Given the description of an element on the screen output the (x, y) to click on. 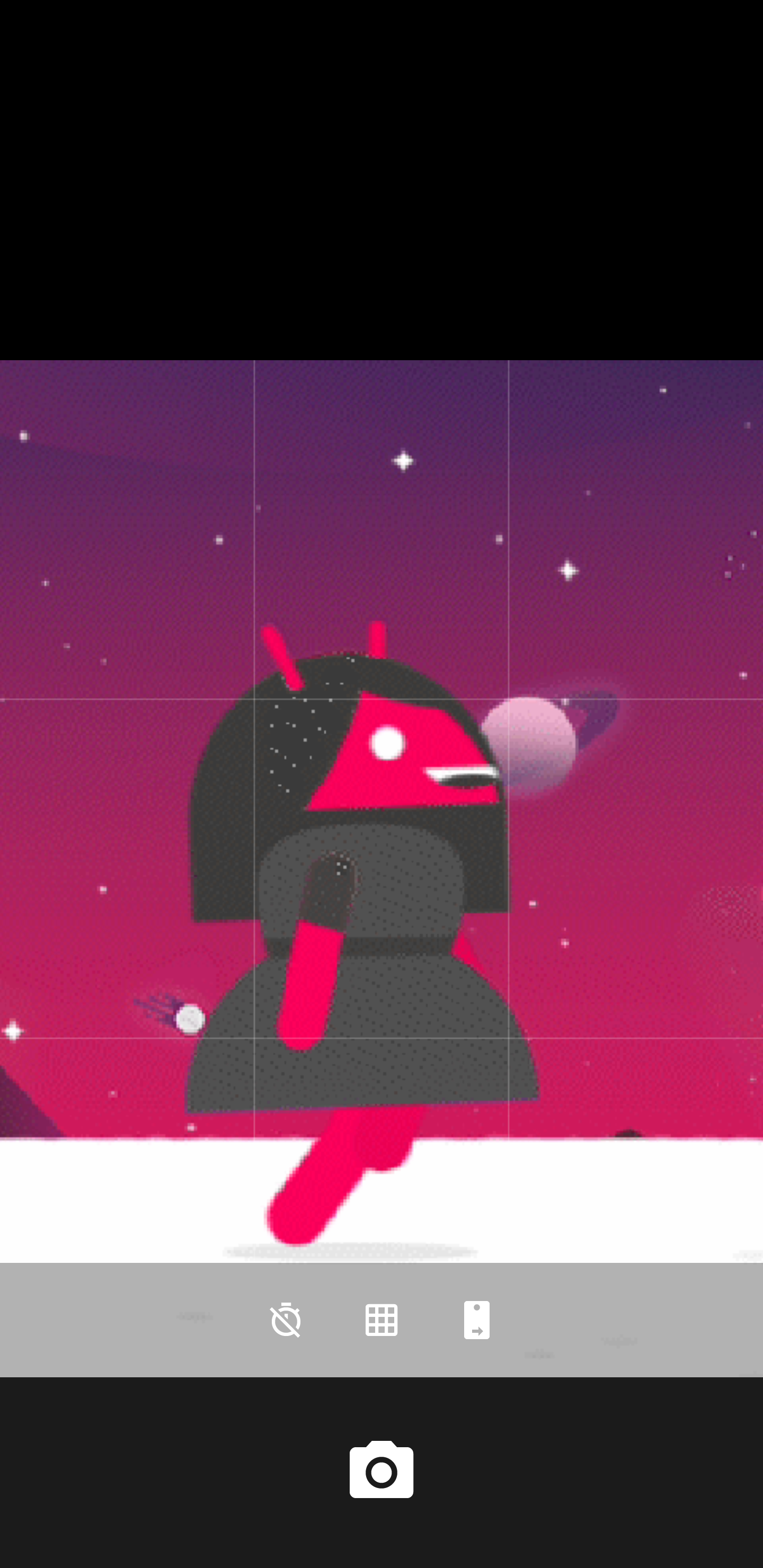
Countdown timer is off (285, 1319)
Grid lines on (381, 1319)
Back camera (476, 1319)
Shutter (381, 1472)
